Given the description of an element on the screen output the (x, y) to click on. 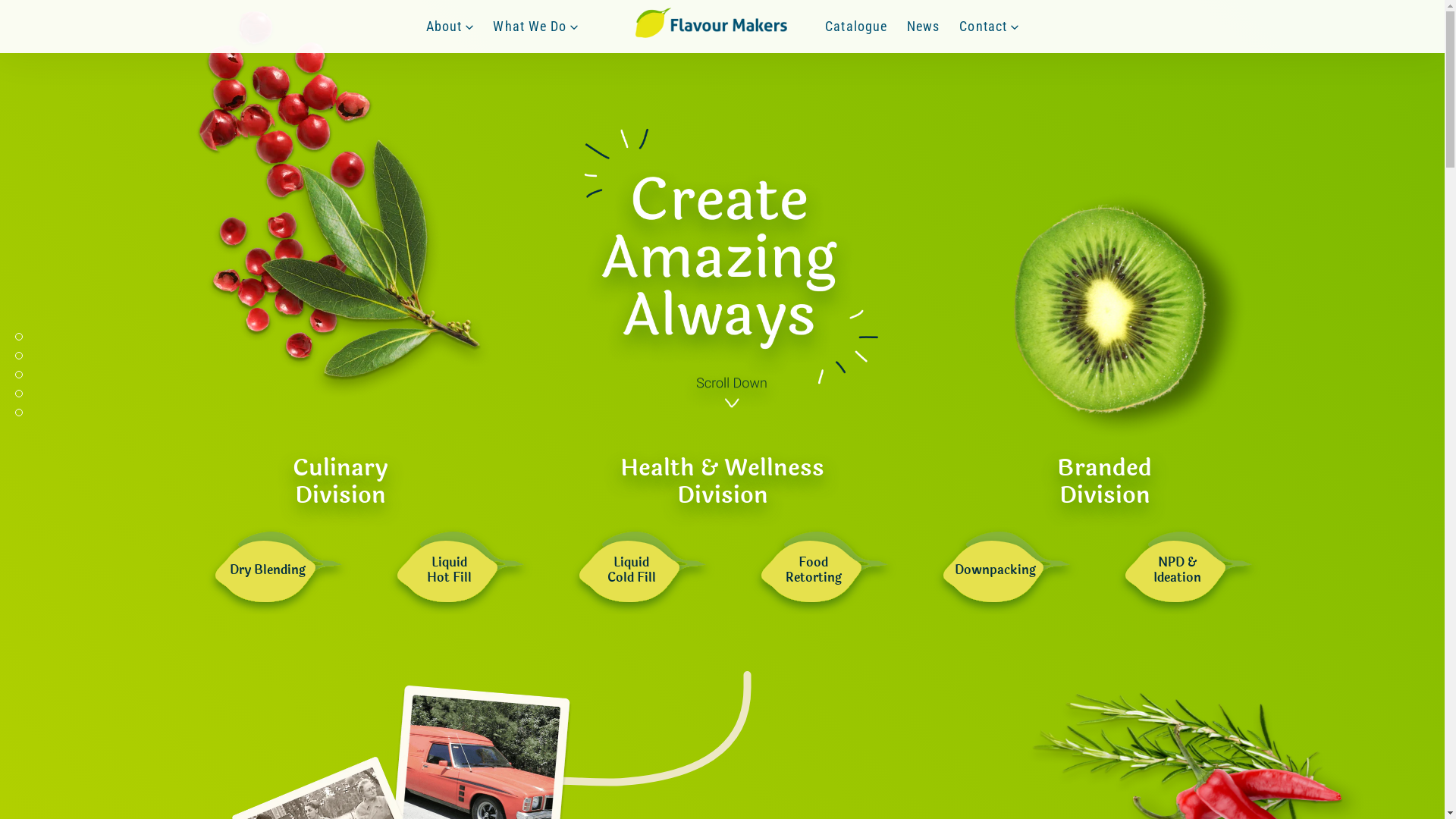
Downpacking Element type: text (994, 569)
NPD &
Ideation Element type: text (1176, 569)
Food Retorting Element type: text (812, 569)
Dry Blending Element type: text (266, 569)
Branded
Division Element type: text (1104, 482)
News Element type: text (922, 26)
Health & Wellness
Division Element type: text (722, 482)
Catalogue Element type: text (856, 26)
Contact Element type: text (988, 26)
What We Do Element type: text (534, 26)
Liquid
Cold Fill Element type: text (630, 569)
About Element type: text (449, 26)
Liquid
Hot Fill Element type: text (448, 569)
Culinary
Division Element type: text (340, 482)
